Given the description of an element on the screen output the (x, y) to click on. 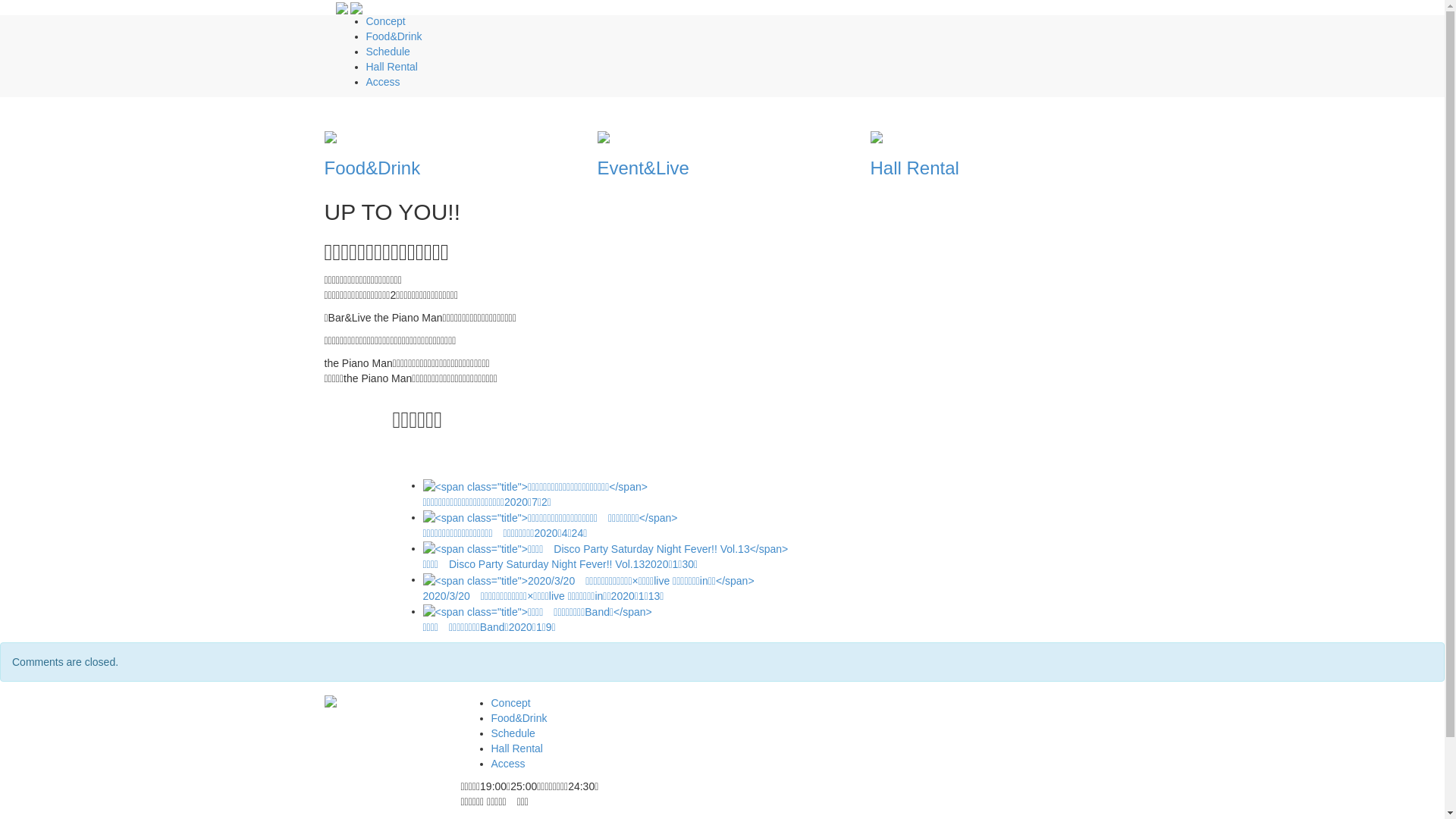
Hall Rental Element type: text (516, 748)
Access Element type: text (508, 763)
Hall Rental Element type: text (391, 66)
Food&Drink Element type: text (447, 154)
Hall Rental Element type: text (993, 154)
Food&Drink Element type: text (519, 718)
Schedule Element type: text (513, 733)
Concept Element type: text (510, 702)
Event&Live Element type: text (720, 154)
Access Element type: text (382, 81)
Schedule Element type: text (387, 51)
Food&Drink Element type: text (393, 36)
Concept Element type: text (384, 21)
